Given the description of an element on the screen output the (x, y) to click on. 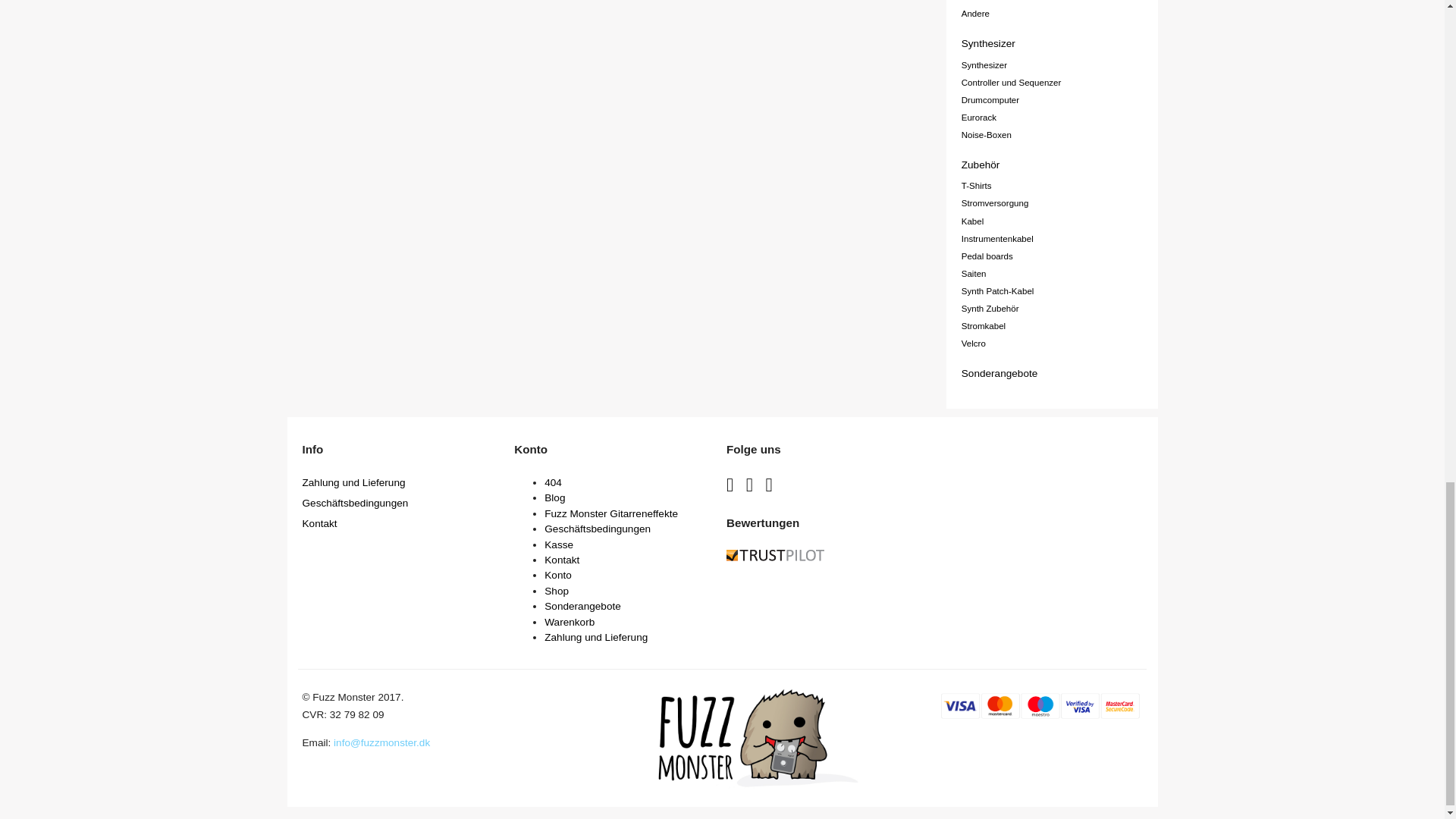
Fuzz Monster (758, 784)
Email Fuzz Monster (381, 741)
Read Fuzz Monster's reviews on Trust Pilot (775, 556)
